Given the description of an element on the screen output the (x, y) to click on. 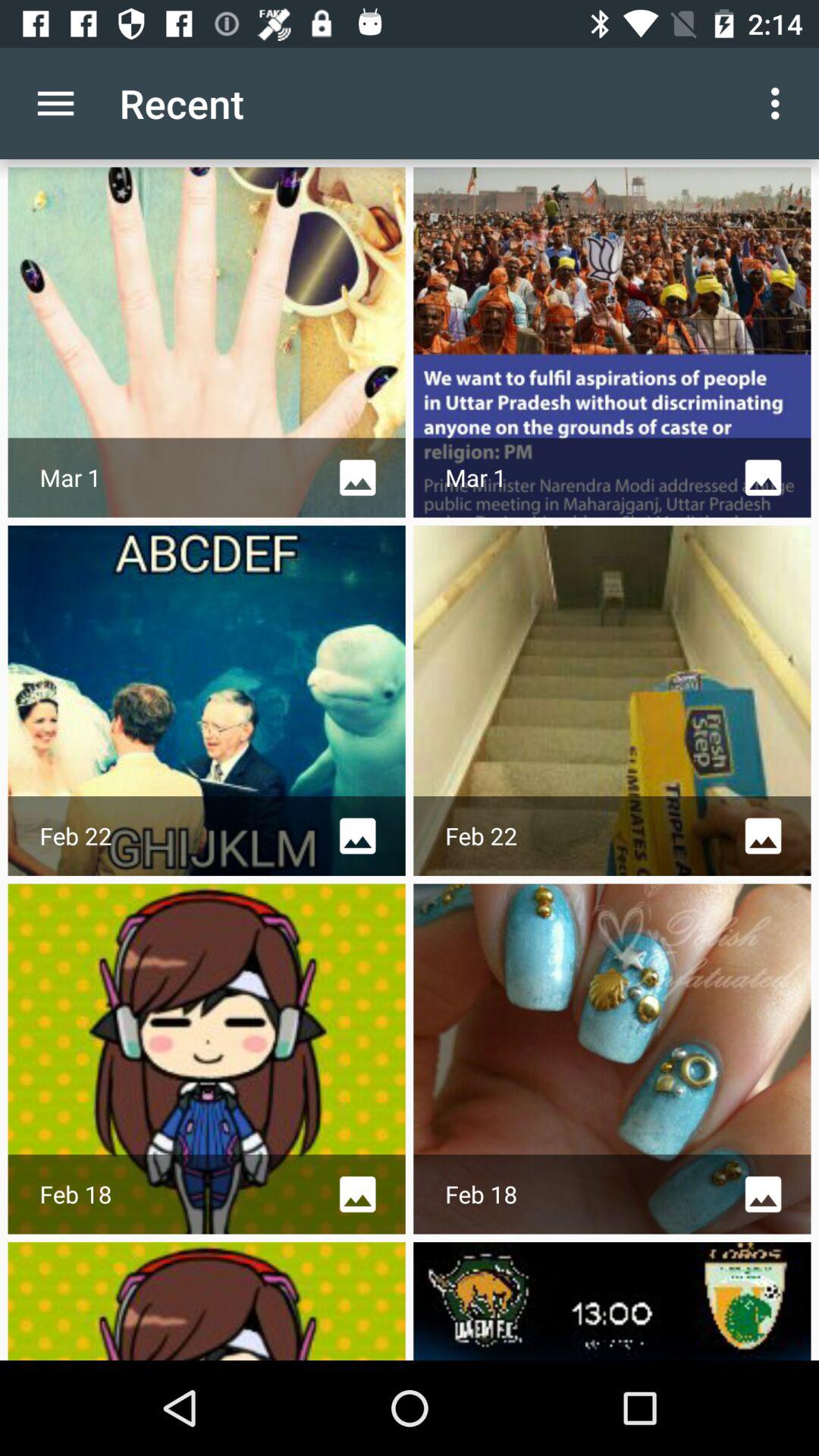
open app next to the recent item (779, 103)
